Given the description of an element on the screen output the (x, y) to click on. 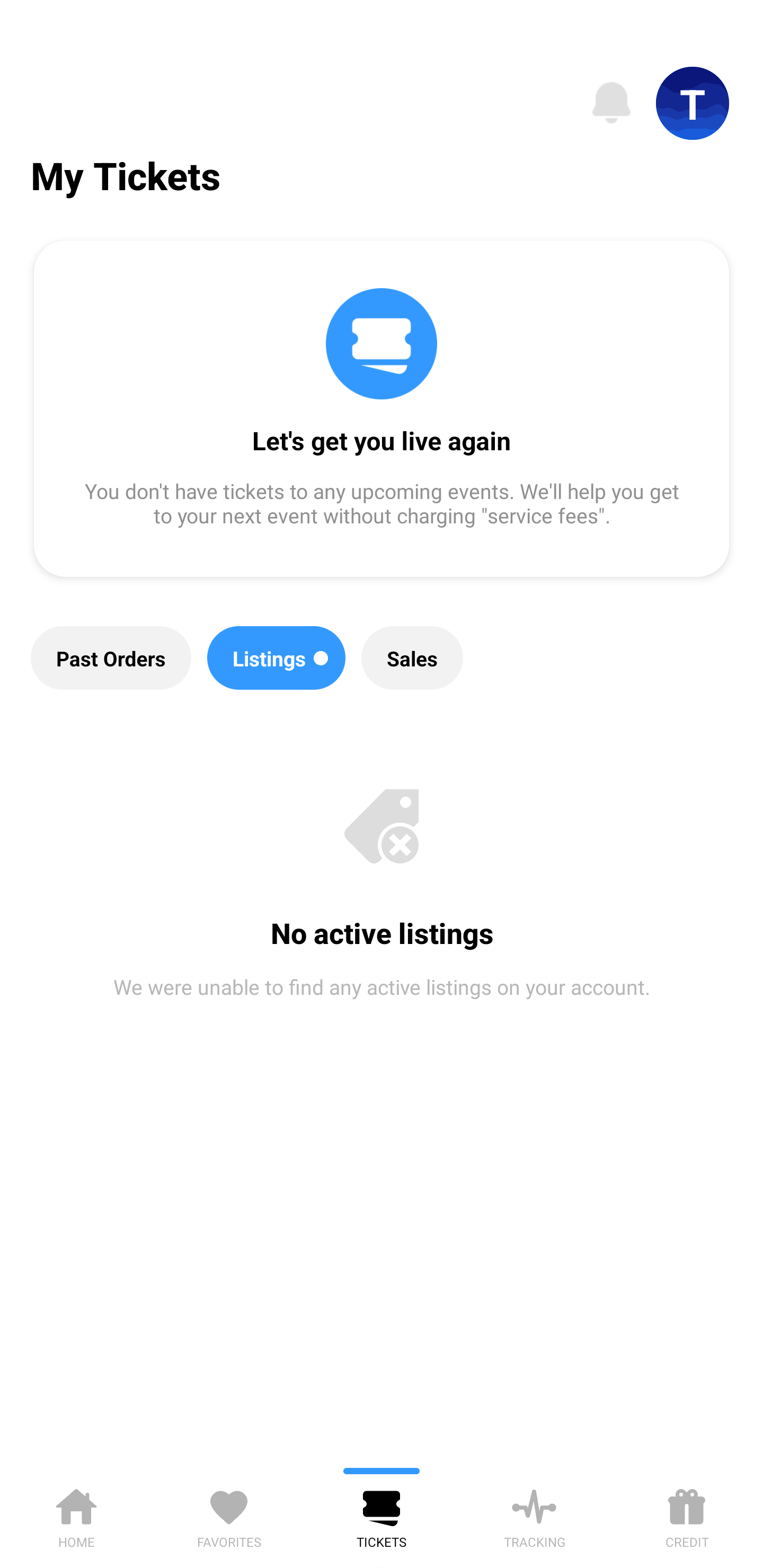
T (692, 103)
Past Orders (110, 657)
Listings (276, 657)
Sales (412, 657)
HOME (76, 1515)
FAVORITES (228, 1515)
TICKETS (381, 1515)
TRACKING (533, 1515)
CREDIT (686, 1515)
